Given the description of an element on the screen output the (x, y) to click on. 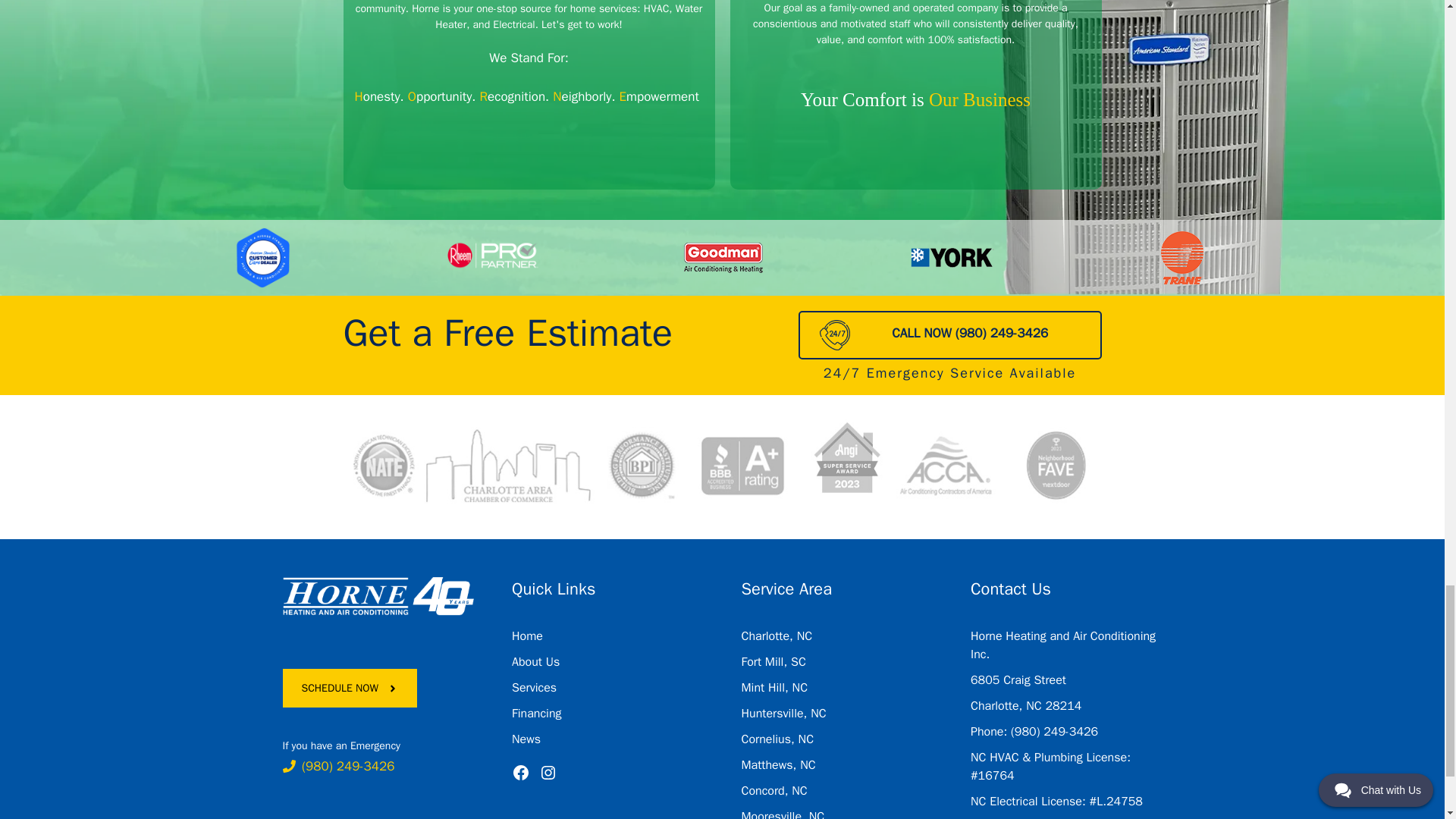
amrcn (261, 257)
Trane (1181, 257)
Logo2 (378, 596)
icn (834, 335)
lgos (721, 466)
york1 (952, 257)
Goodman2 (722, 257)
rheem2 (492, 257)
